Given the description of an element on the screen output the (x, y) to click on. 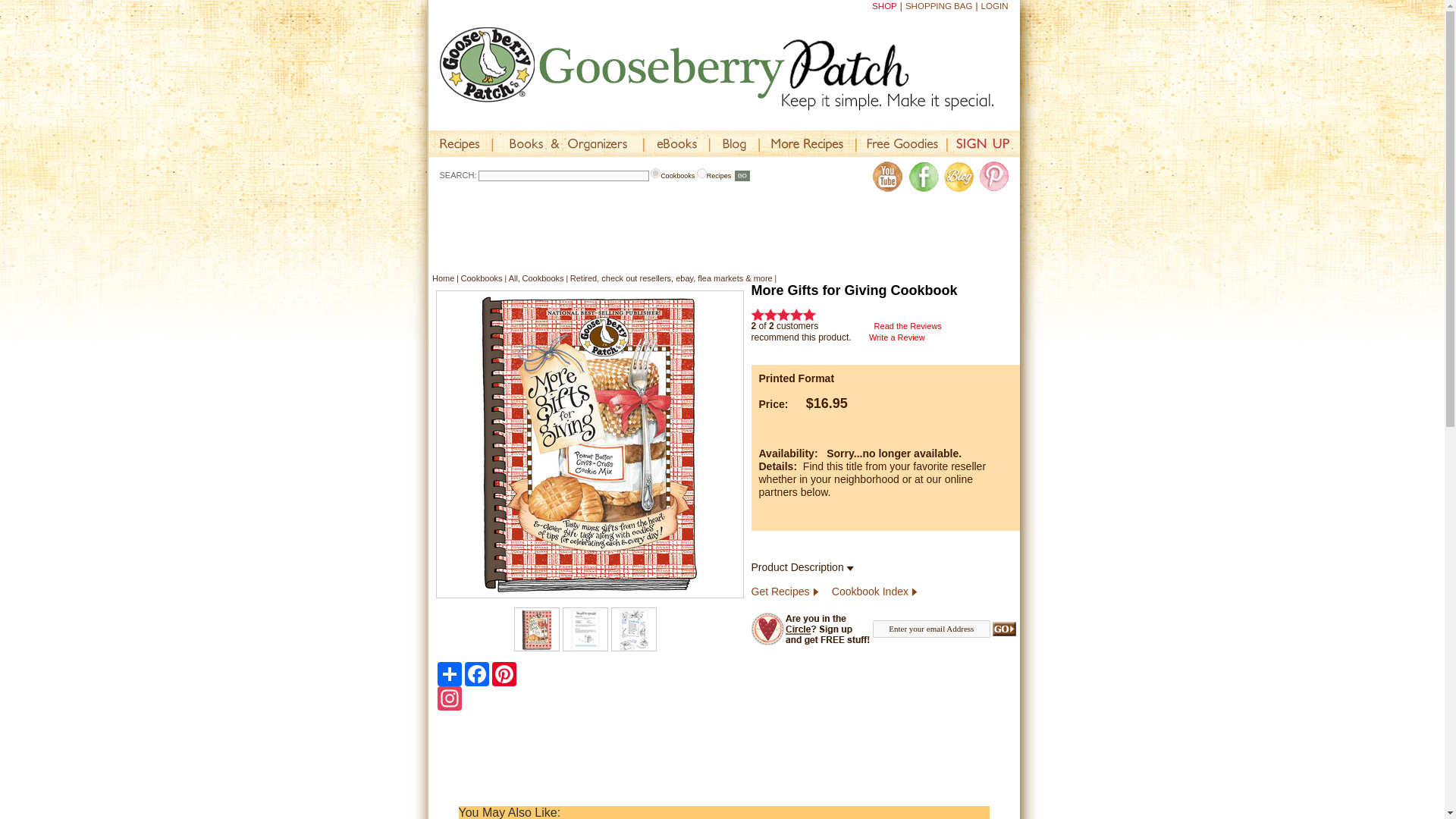
SHOP (884, 5)
Gooseberry Patch - Keep it simple. Make it special. (729, 69)
Gooseberry Patch - Keep it simple. Make it special. (716, 69)
Recipes (701, 173)
LOGIN (995, 5)
SHOPPING BAG (938, 5)
Enter your email Address (931, 628)
Cookbooks (655, 173)
Recipes (460, 142)
